Given the description of an element on the screen output the (x, y) to click on. 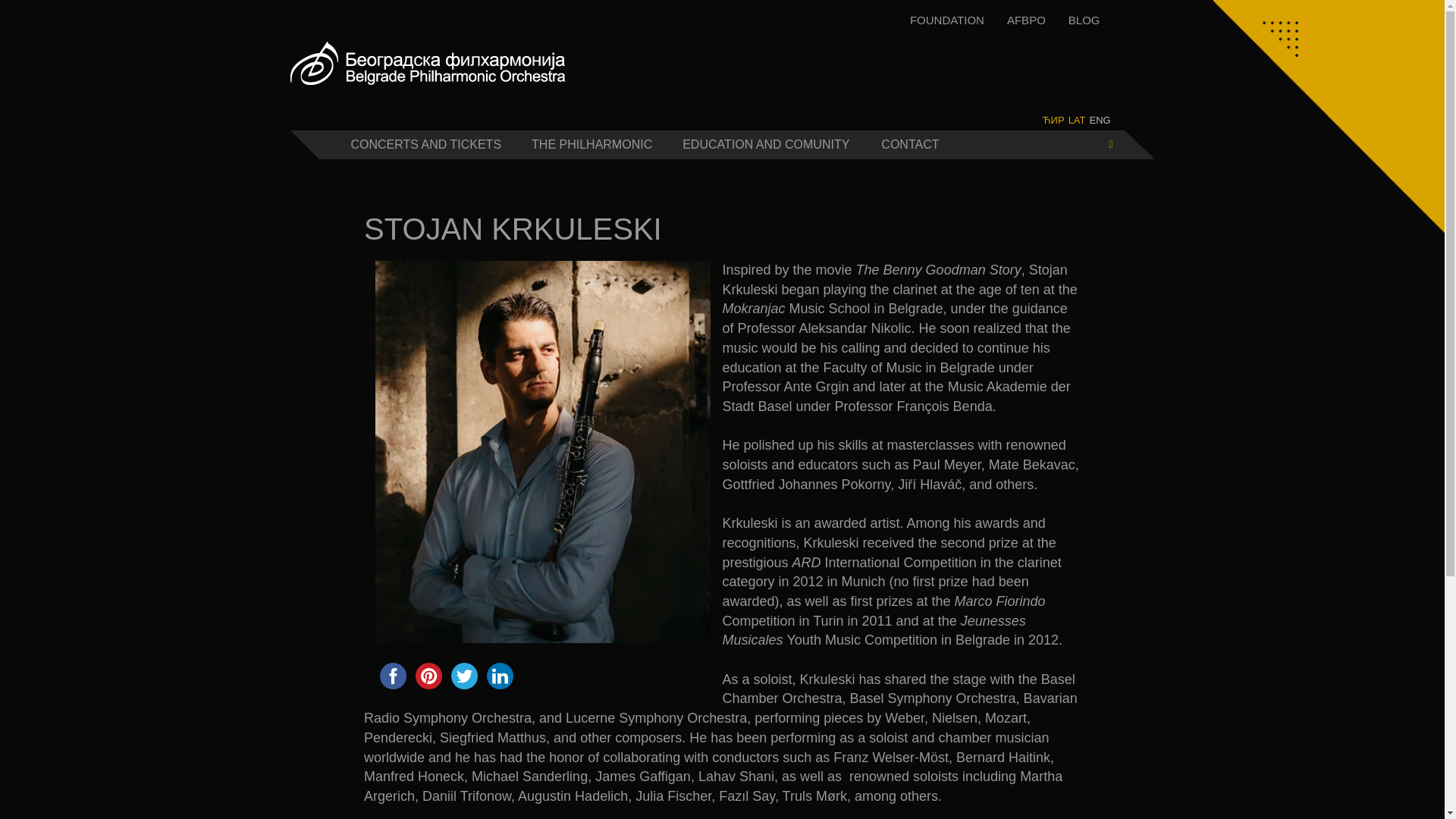
ENG (1099, 119)
CONCERTS AND TICKETS (425, 144)
BLOG (1084, 19)
Concerts and Tickets (425, 144)
FOUNDATION (947, 19)
LAT (1077, 119)
THE PHILHARMONIC (591, 144)
